Given the description of an element on the screen output the (x, y) to click on. 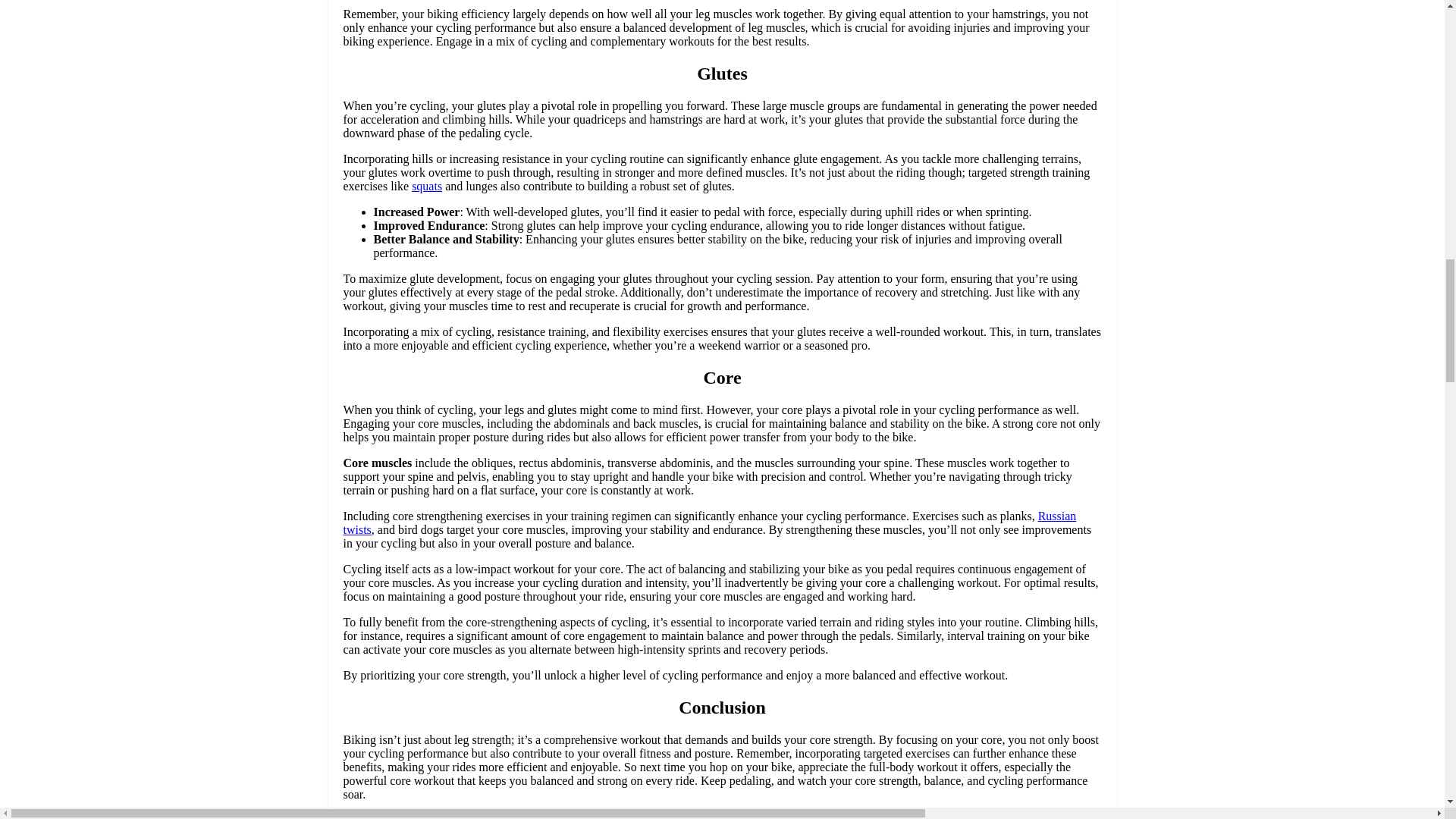
squats (427, 185)
Russian twists (708, 522)
squats (427, 185)
Russian twists (708, 522)
